Given the description of an element on the screen output the (x, y) to click on. 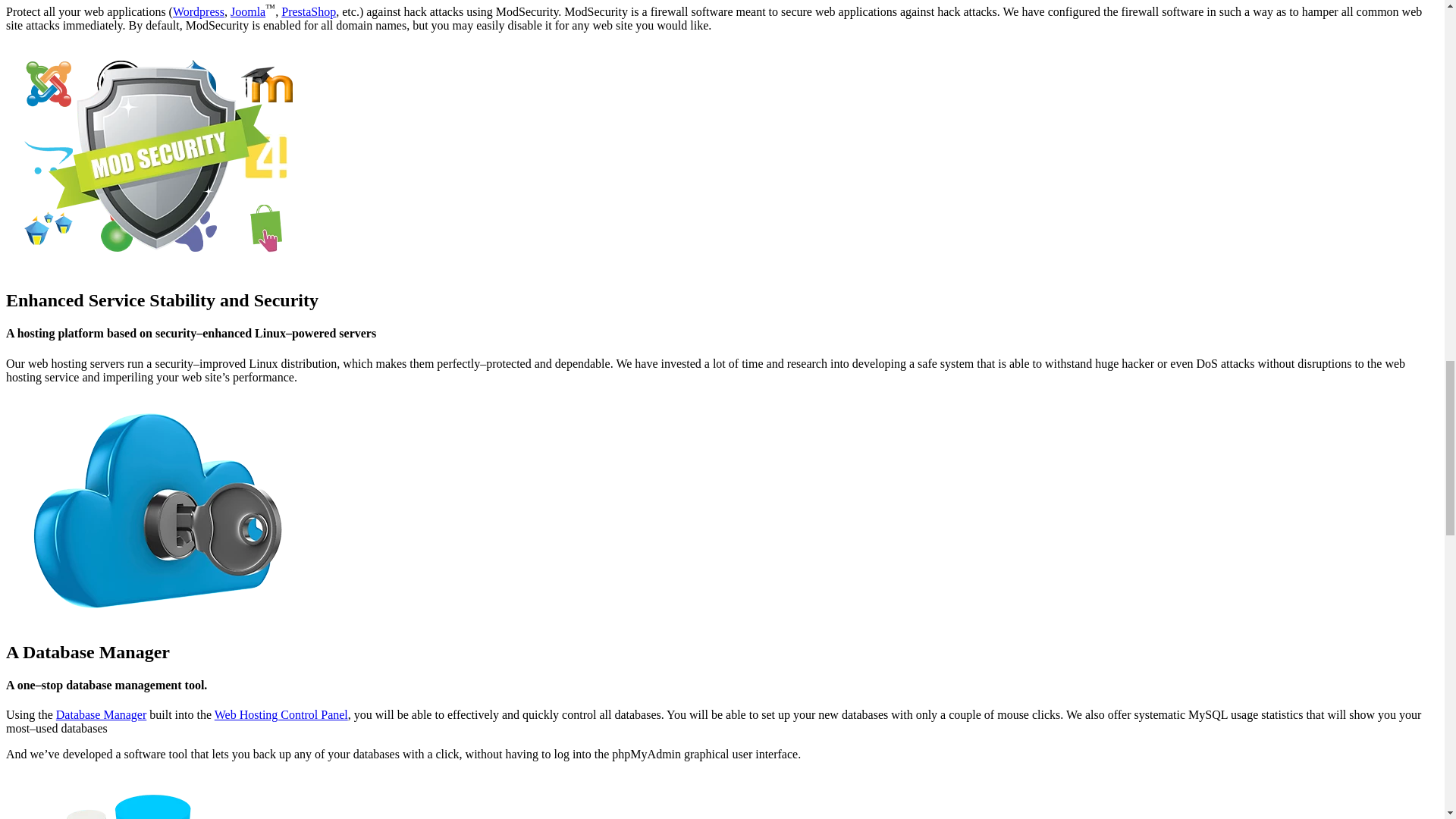
Wordpress (198, 11)
Joomla (247, 11)
